Given the description of an element on the screen output the (x, y) to click on. 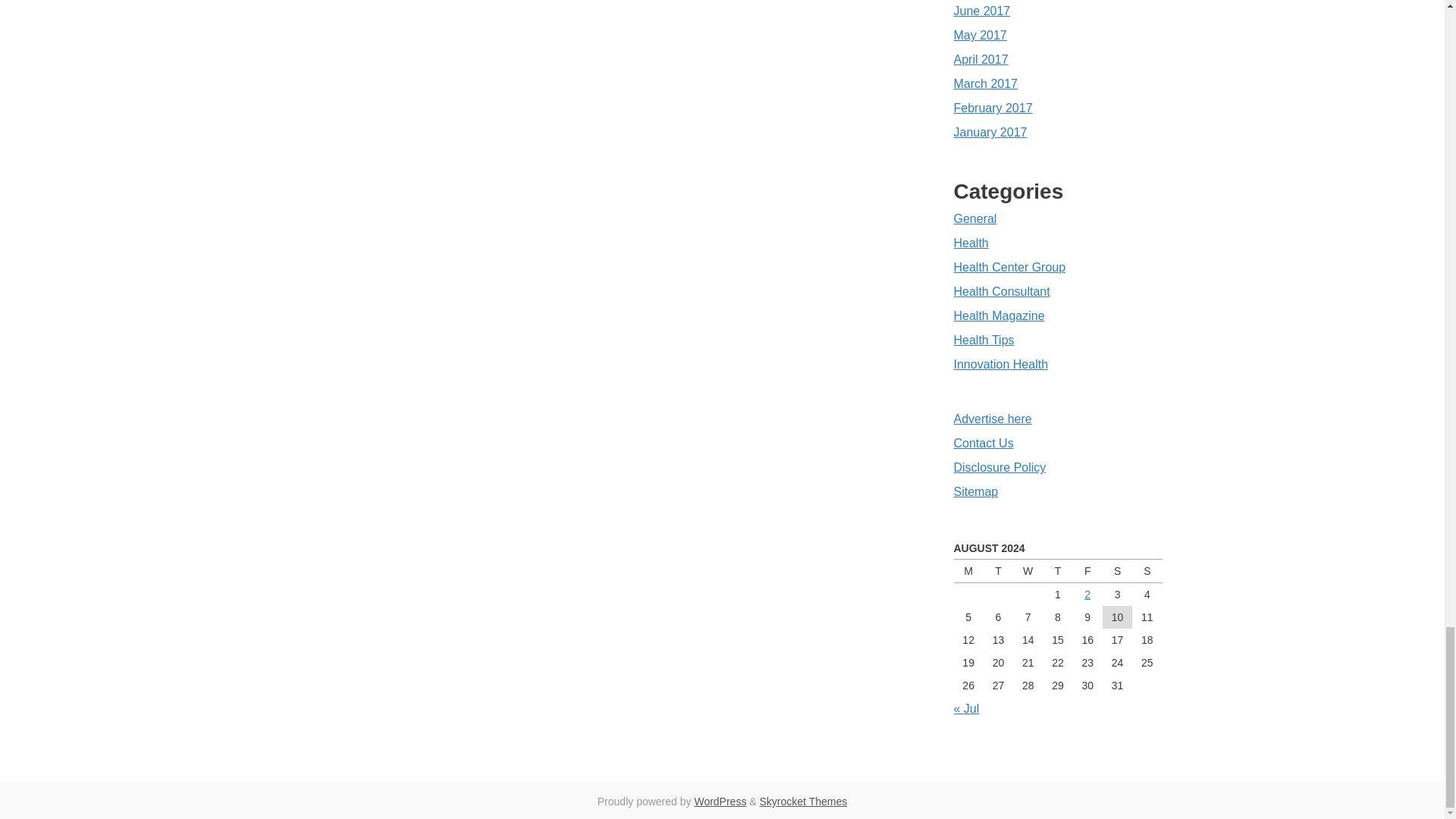
Skyrocket Themes (803, 801)
Semantic Personal Publishing Platform (719, 801)
Thursday (1056, 571)
Monday (968, 571)
Sunday (1146, 571)
Wednesday (1027, 571)
Saturday (1117, 571)
Tuesday (998, 571)
Friday (1087, 571)
